Given the description of an element on the screen output the (x, y) to click on. 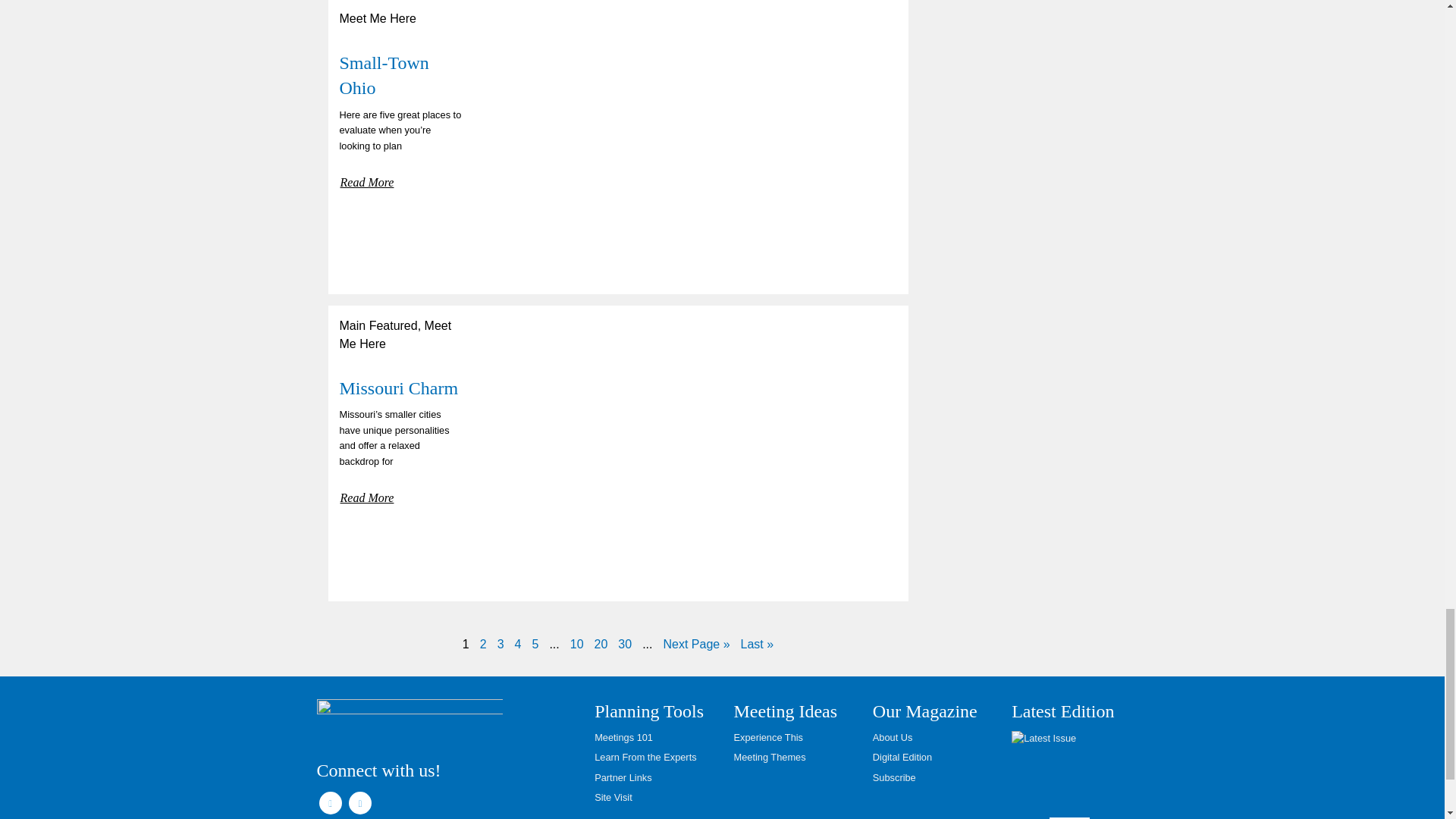
Small-Town Ohio (384, 75)
Page 30 (624, 643)
Missouri Charm (398, 388)
Page 20 (601, 643)
Page 10 (576, 643)
